Given the description of an element on the screen output the (x, y) to click on. 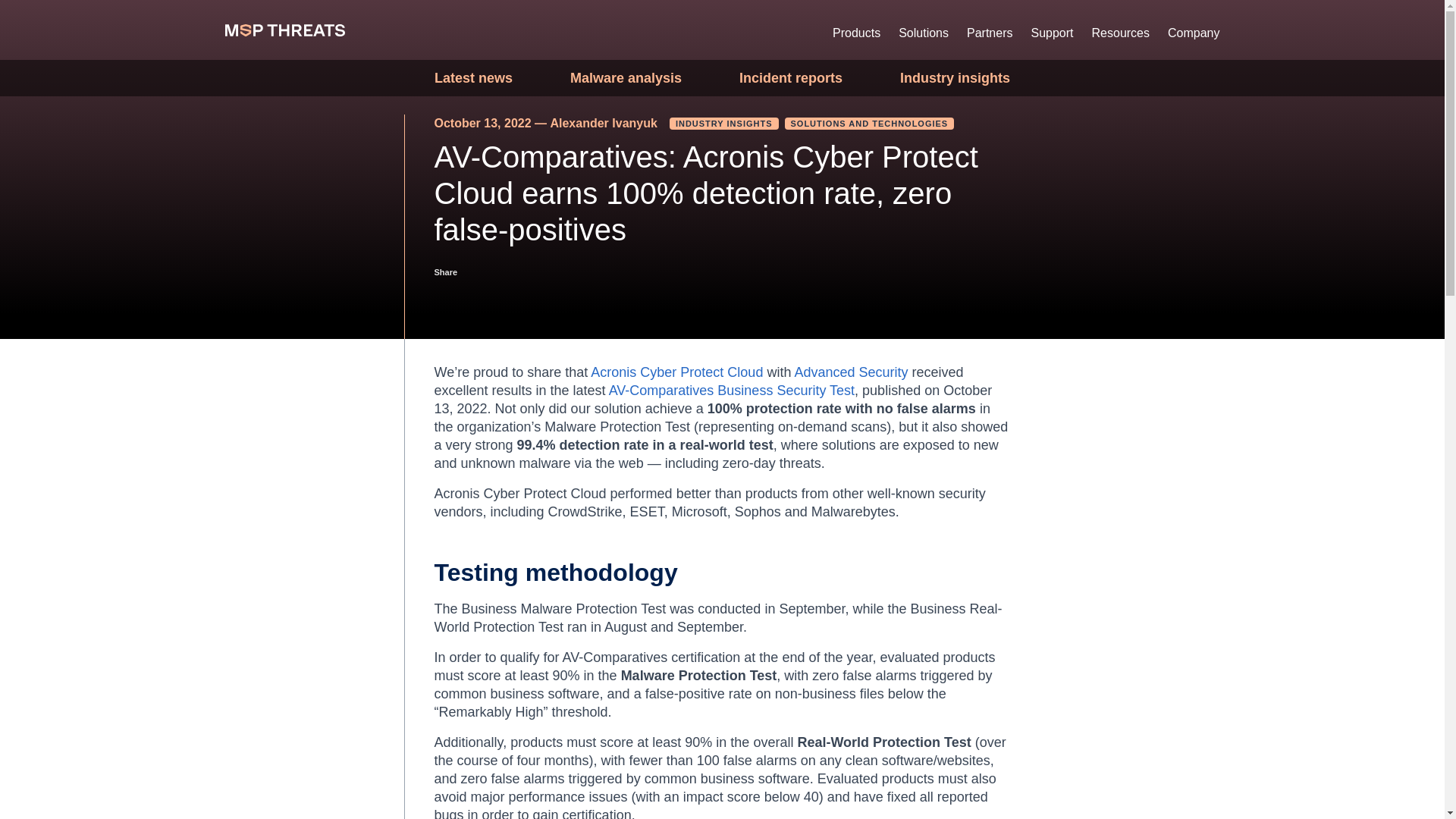
Incident reports (790, 78)
Partners (990, 33)
Resources (1120, 33)
Solutions (923, 33)
Company (1189, 33)
Malware analysis (625, 78)
Industry insights (954, 78)
Support (1051, 33)
Products (860, 33)
